Given the description of an element on the screen output the (x, y) to click on. 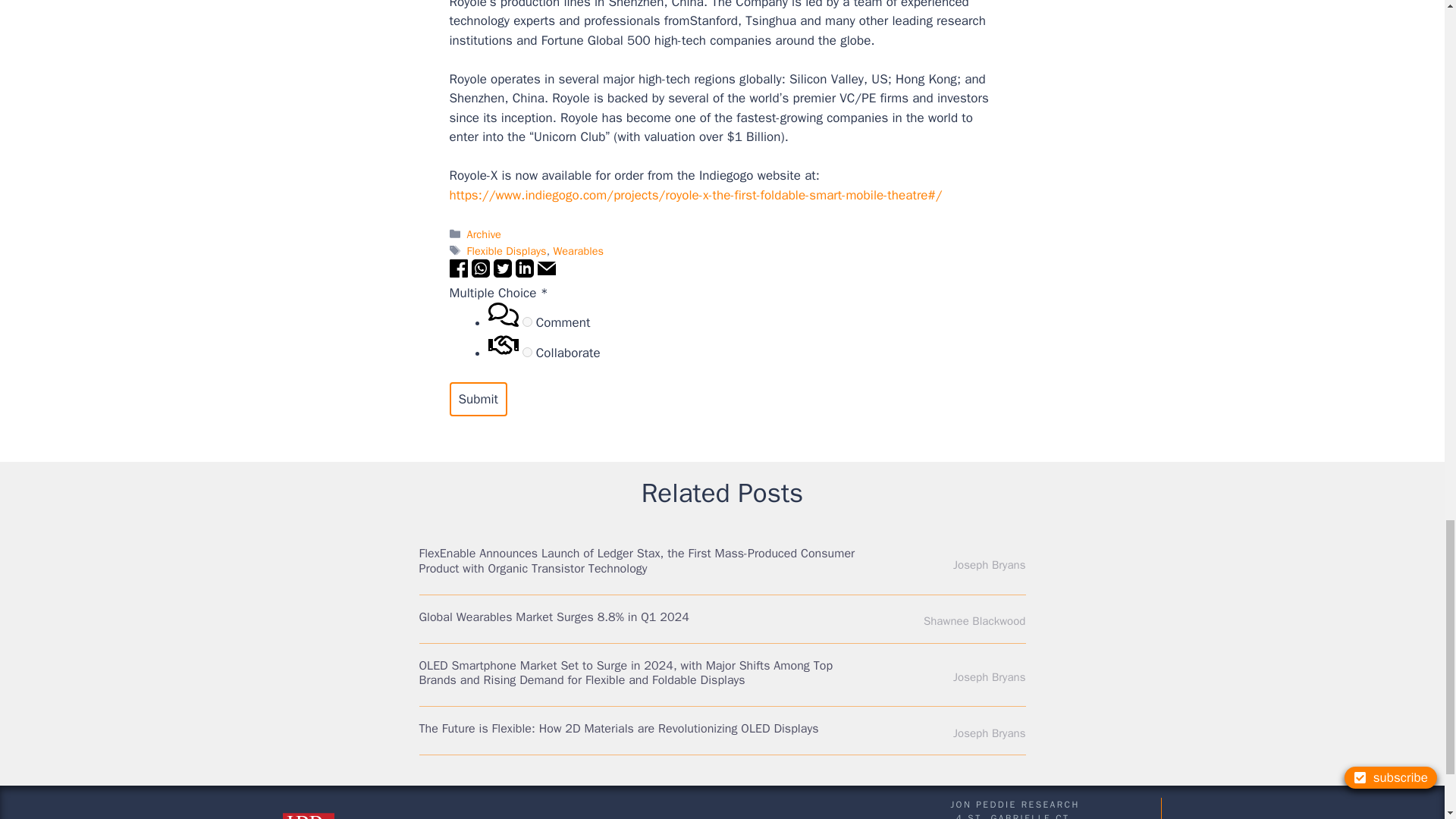
Archive (483, 233)
Collaborate (527, 352)
Wearables (578, 250)
Comment (527, 321)
Submit (477, 399)
Flexible Displays (507, 250)
